Given the description of an element on the screen output the (x, y) to click on. 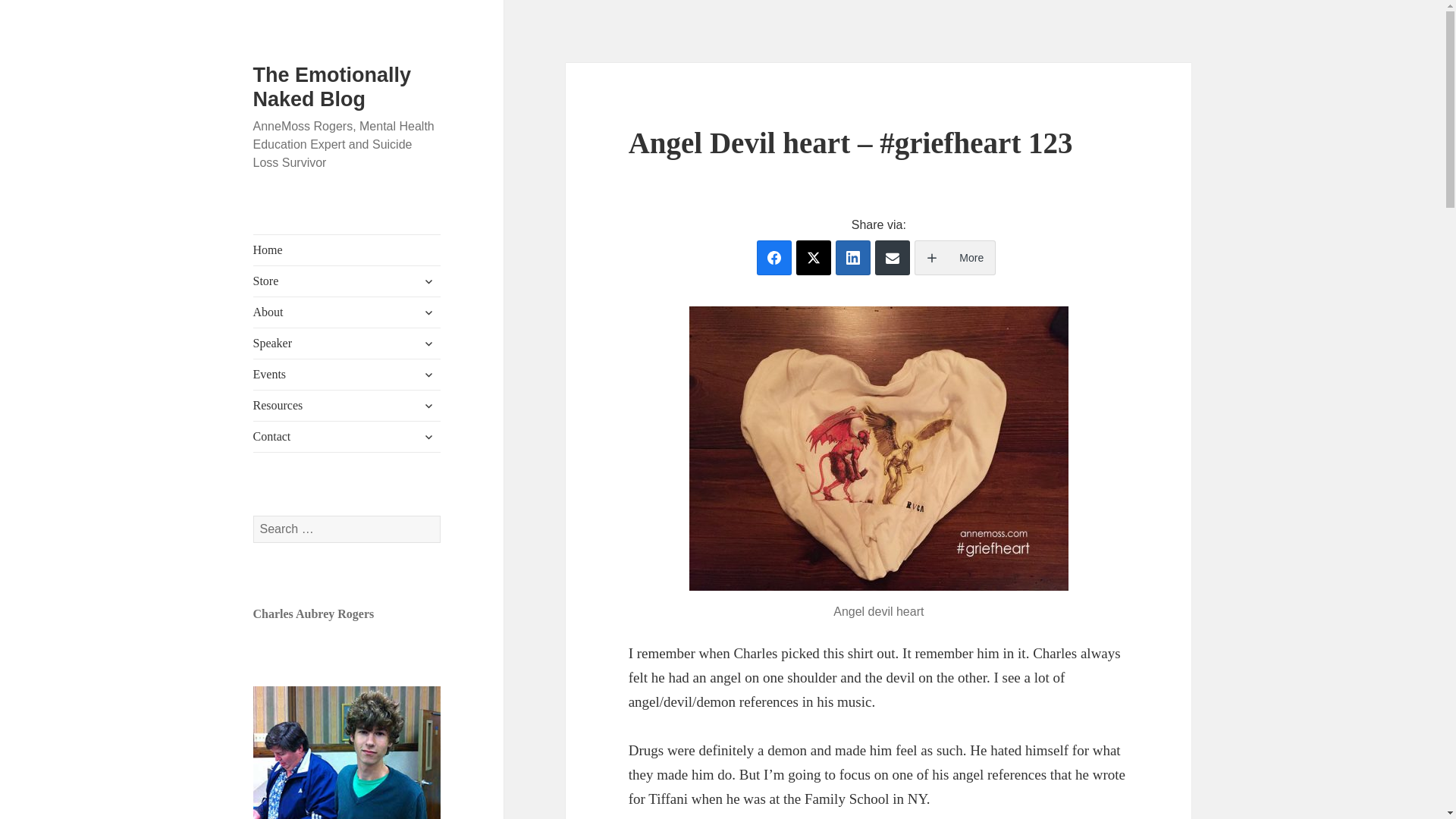
expand child menu (428, 312)
expand child menu (428, 343)
The Emotionally Naked Blog (332, 86)
Speaker (347, 343)
Contact (347, 436)
About (347, 312)
Home (347, 250)
Resources (347, 405)
expand child menu (428, 436)
Events (347, 374)
expand child menu (428, 281)
expand child menu (428, 374)
